Given the description of an element on the screen output the (x, y) to click on. 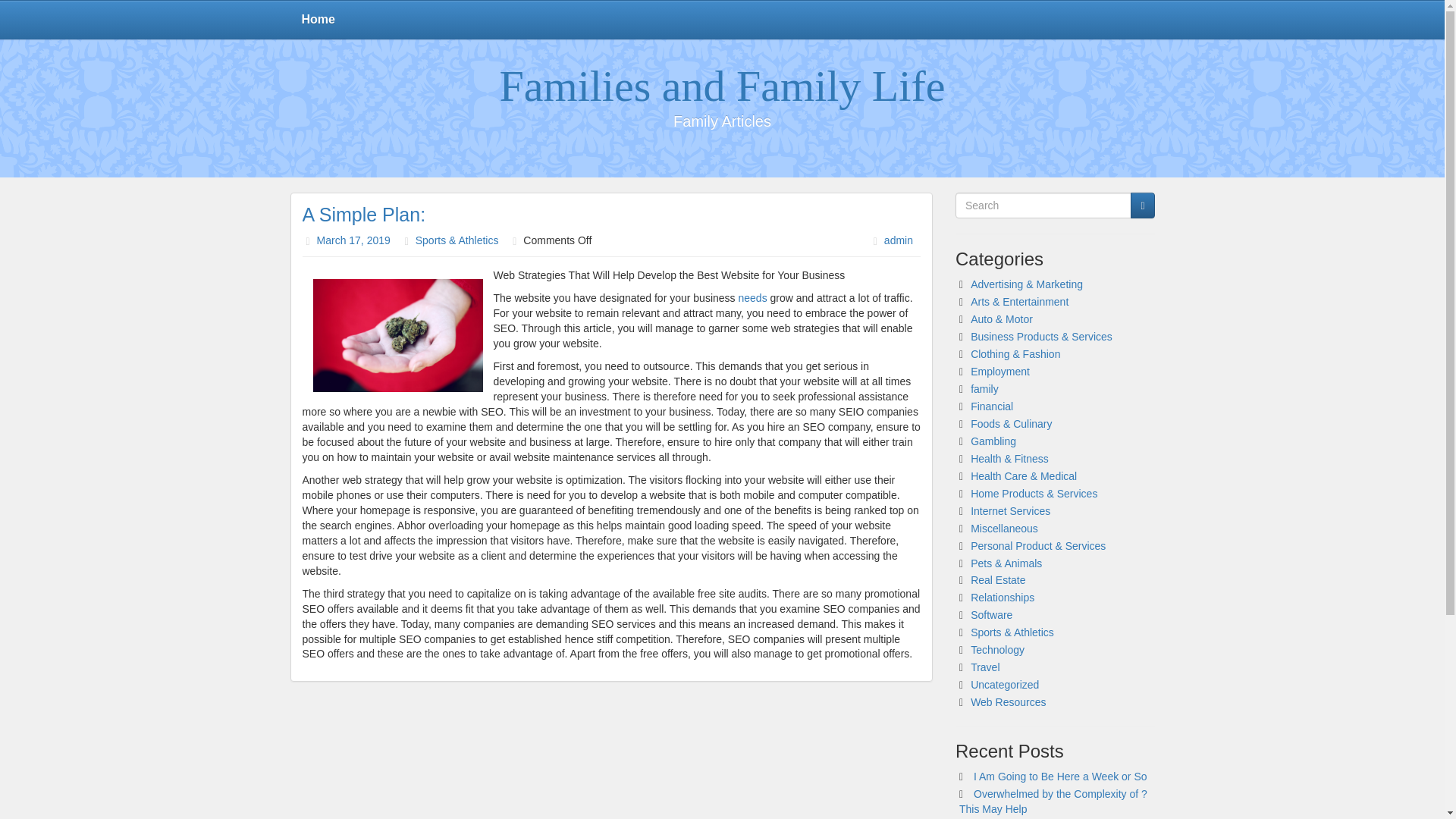
A Simple Plan: (363, 214)
Home (317, 19)
Travel (984, 666)
Software (991, 614)
Miscellaneous (1004, 528)
Employment (1000, 371)
Relationships (1002, 597)
March 17, 2019 (353, 240)
I Am Going to Be Here a Week or So (1060, 776)
Overwhelmed by the Complexity of ? This May Help (1053, 800)
